Given the description of an element on the screen output the (x, y) to click on. 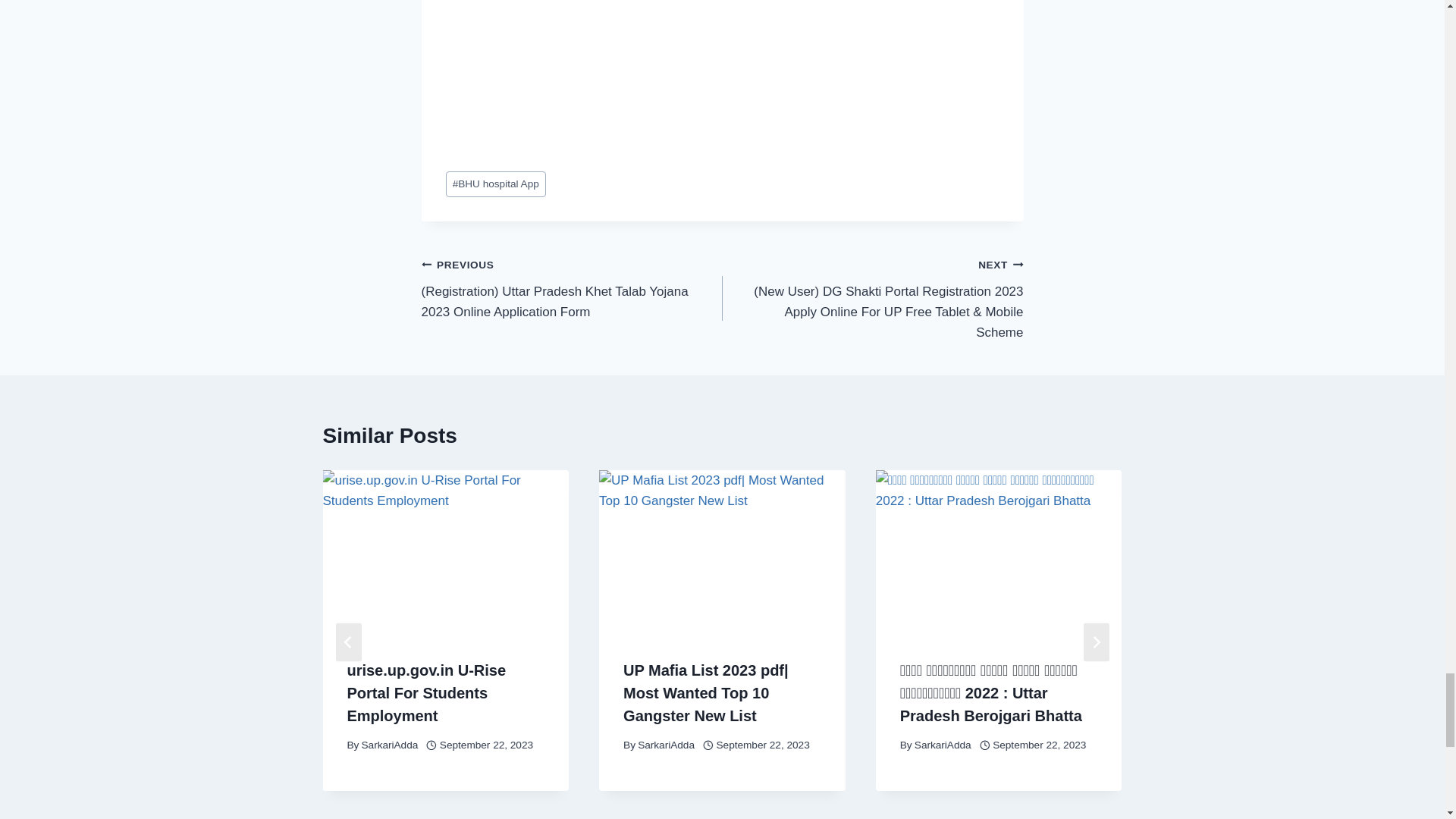
BHU hospital App (495, 184)
